Given the description of an element on the screen output the (x, y) to click on. 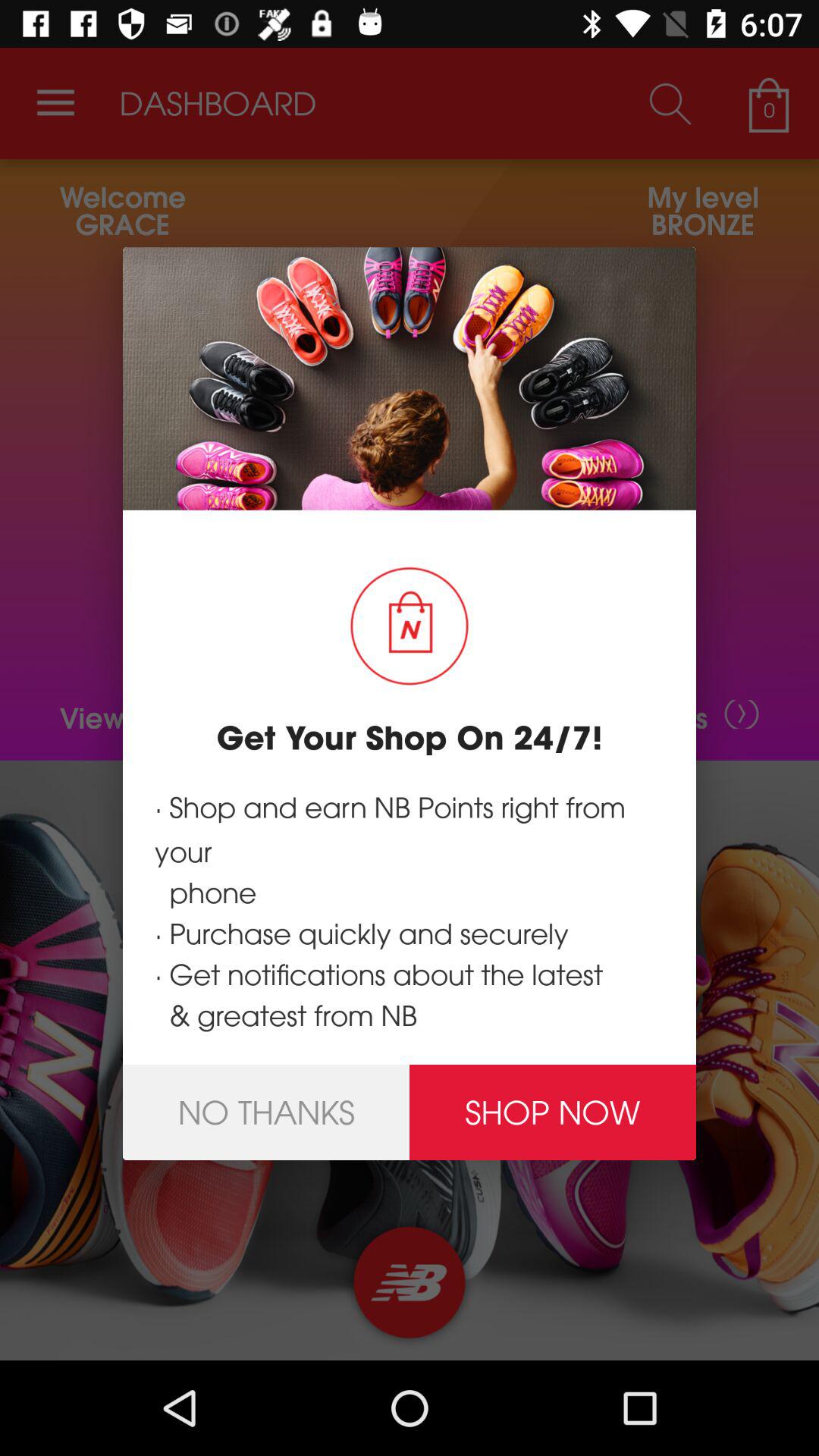
click the item below shop and earn item (552, 1112)
